Given the description of an element on the screen output the (x, y) to click on. 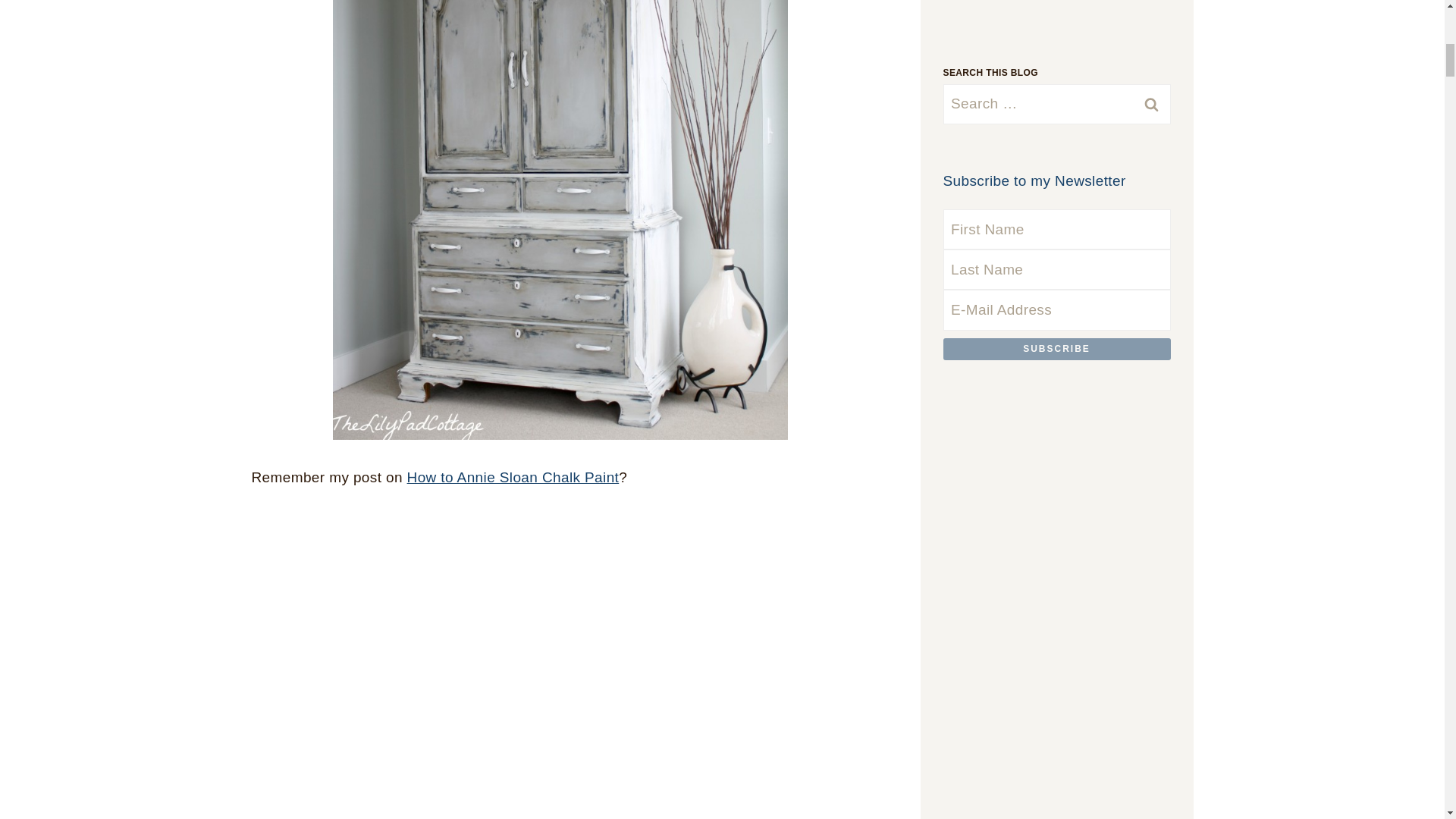
Search (1056, 107)
How to Annie Sloan Chalk Paint (513, 477)
Search (1056, 107)
Subscribe (1056, 349)
